Given the description of an element on the screen output the (x, y) to click on. 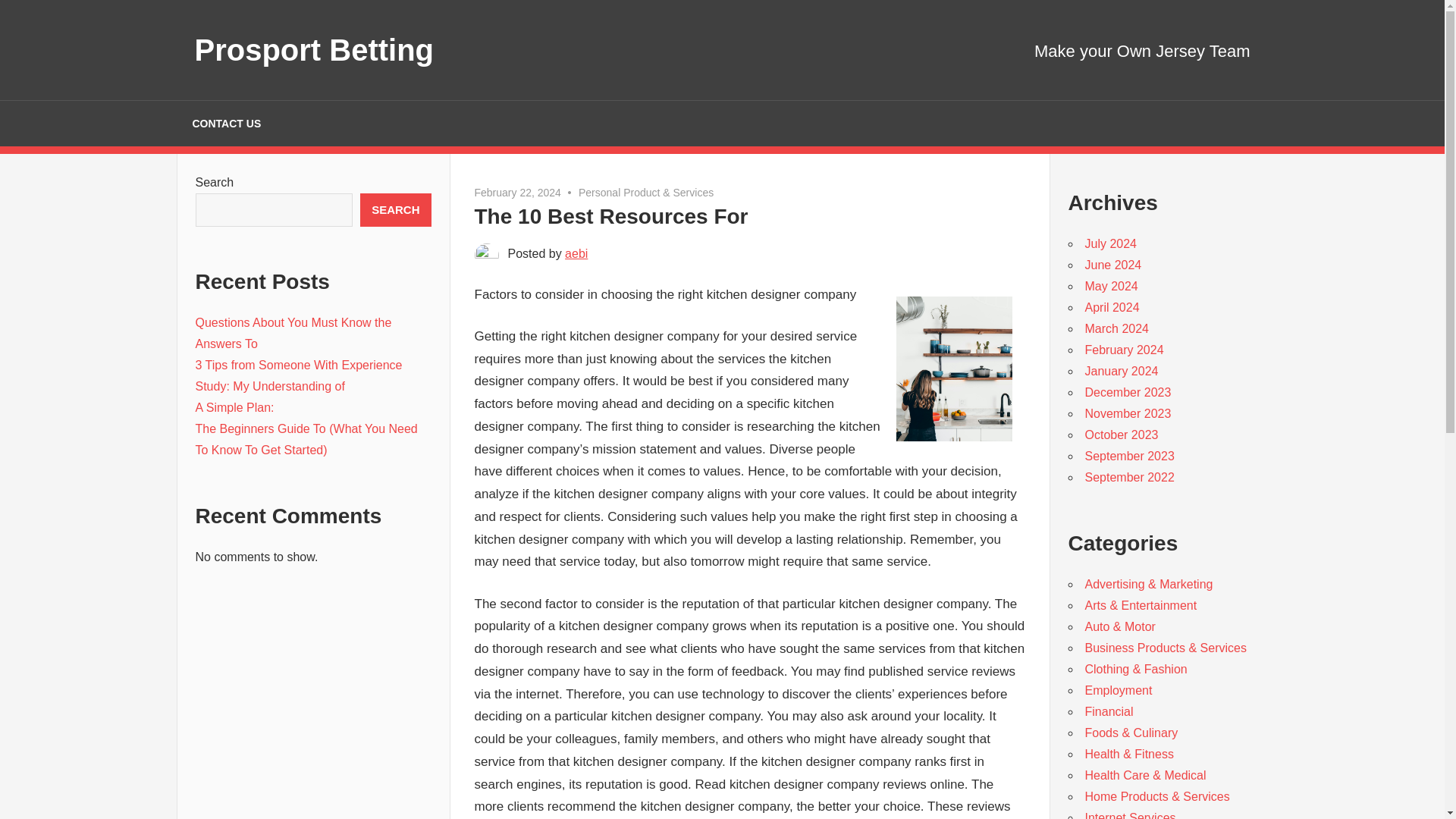
May 2024 (1110, 286)
November 2023 (1127, 413)
March 2024 (1116, 328)
Financial (1108, 711)
October 2023 (1120, 434)
February 22, 2024 (517, 192)
SEARCH (394, 209)
April 2024 (1111, 307)
8:56 pm (517, 192)
January 2024 (1120, 370)
June 2024 (1112, 264)
September 2022 (1128, 477)
3 Tips from Someone With Experience (299, 364)
July 2024 (1110, 243)
September 2023 (1128, 455)
